Given the description of an element on the screen output the (x, y) to click on. 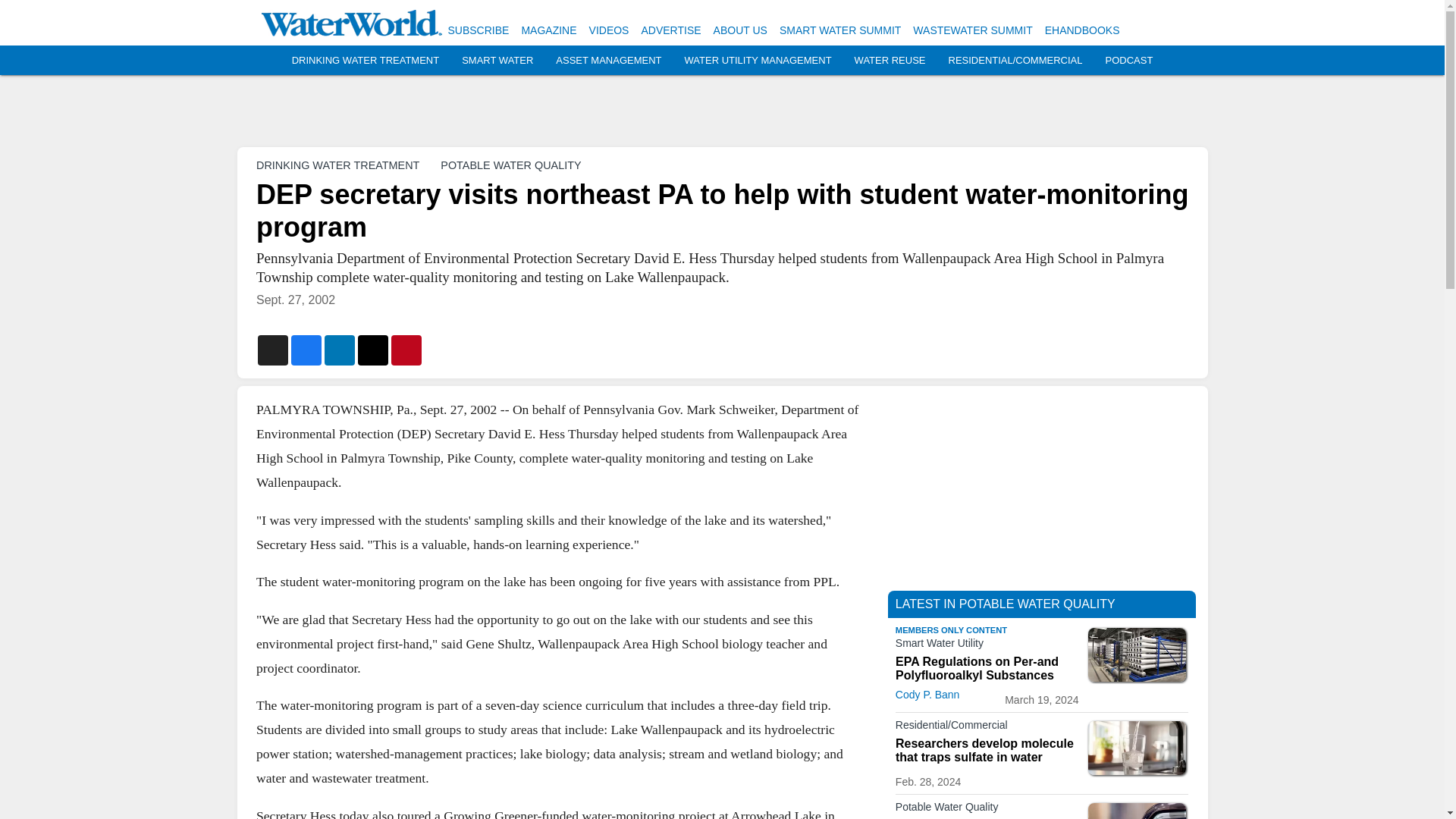
POTABLE WATER QUALITY (510, 164)
SMART WATER SUMMIT (839, 30)
DRINKING WATER TREATMENT (365, 60)
SUBSCRIBE (477, 30)
EHANDBOOKS (1082, 30)
LATEST IN POTABLE WATER QUALITY (1005, 603)
WATER REUSE (890, 60)
VIDEOS (608, 30)
WASTEWATER SUMMIT (972, 30)
ASSET MANAGEMENT (608, 60)
